Given the description of an element on the screen output the (x, y) to click on. 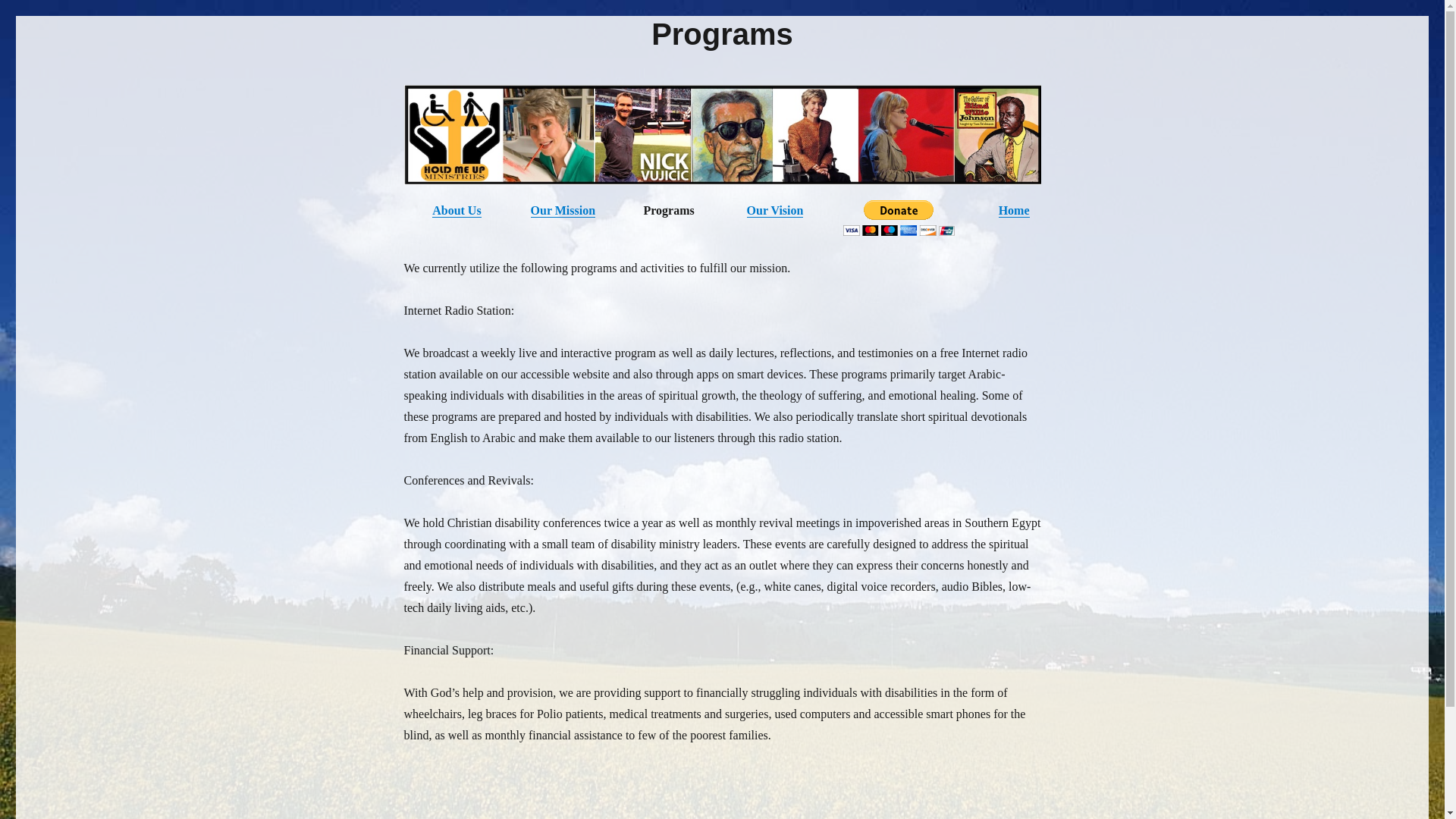
About Us (456, 210)
PayPal - The safer, easier way to pay online! (899, 217)
Our Mission (563, 210)
Home (1013, 210)
Our Vision (774, 210)
